Given the description of an element on the screen output the (x, y) to click on. 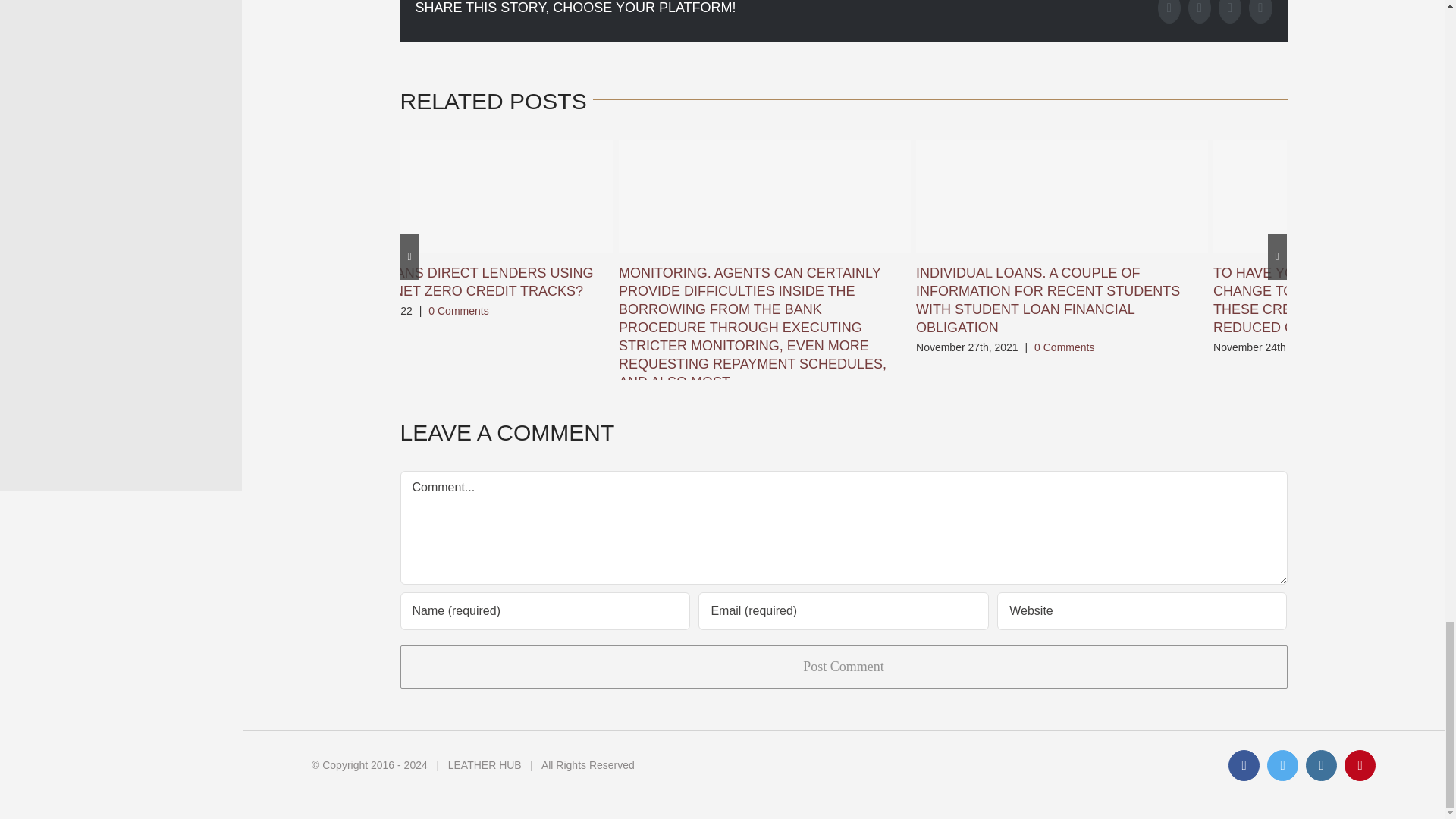
0 Comments (1063, 346)
Pinterest (1260, 11)
Tumblr (1229, 11)
Facebook (1168, 11)
0 Comments (457, 310)
Post Comment (843, 666)
Twitter (1199, 11)
